Given the description of an element on the screen output the (x, y) to click on. 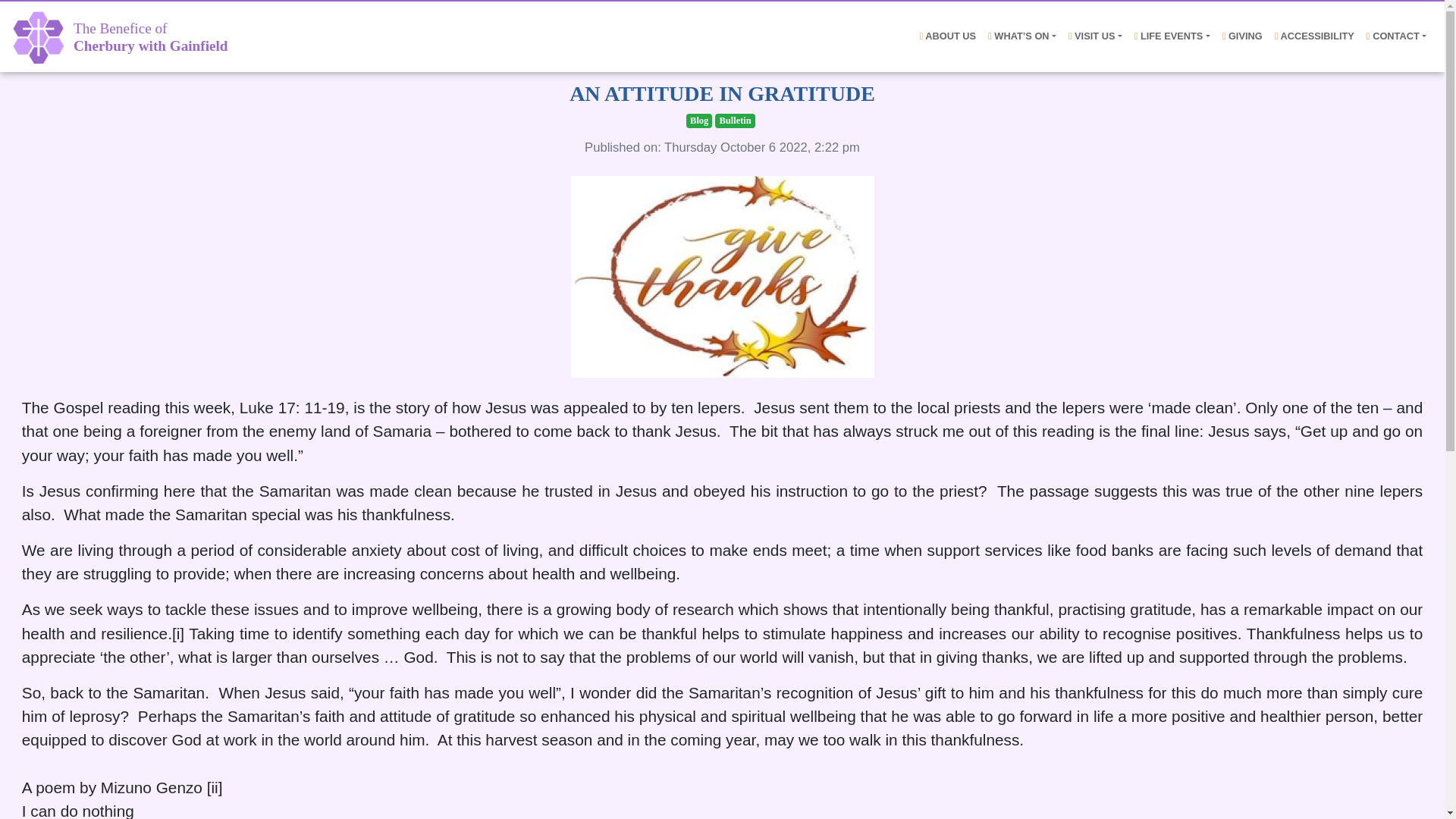
LIFE EVENTS (1171, 35)
ACCESSIBILITY (1313, 35)
VISIT US (1095, 35)
GIVING (151, 36)
ABOUT US (1241, 35)
CONTACT (946, 35)
